Given the description of an element on the screen output the (x, y) to click on. 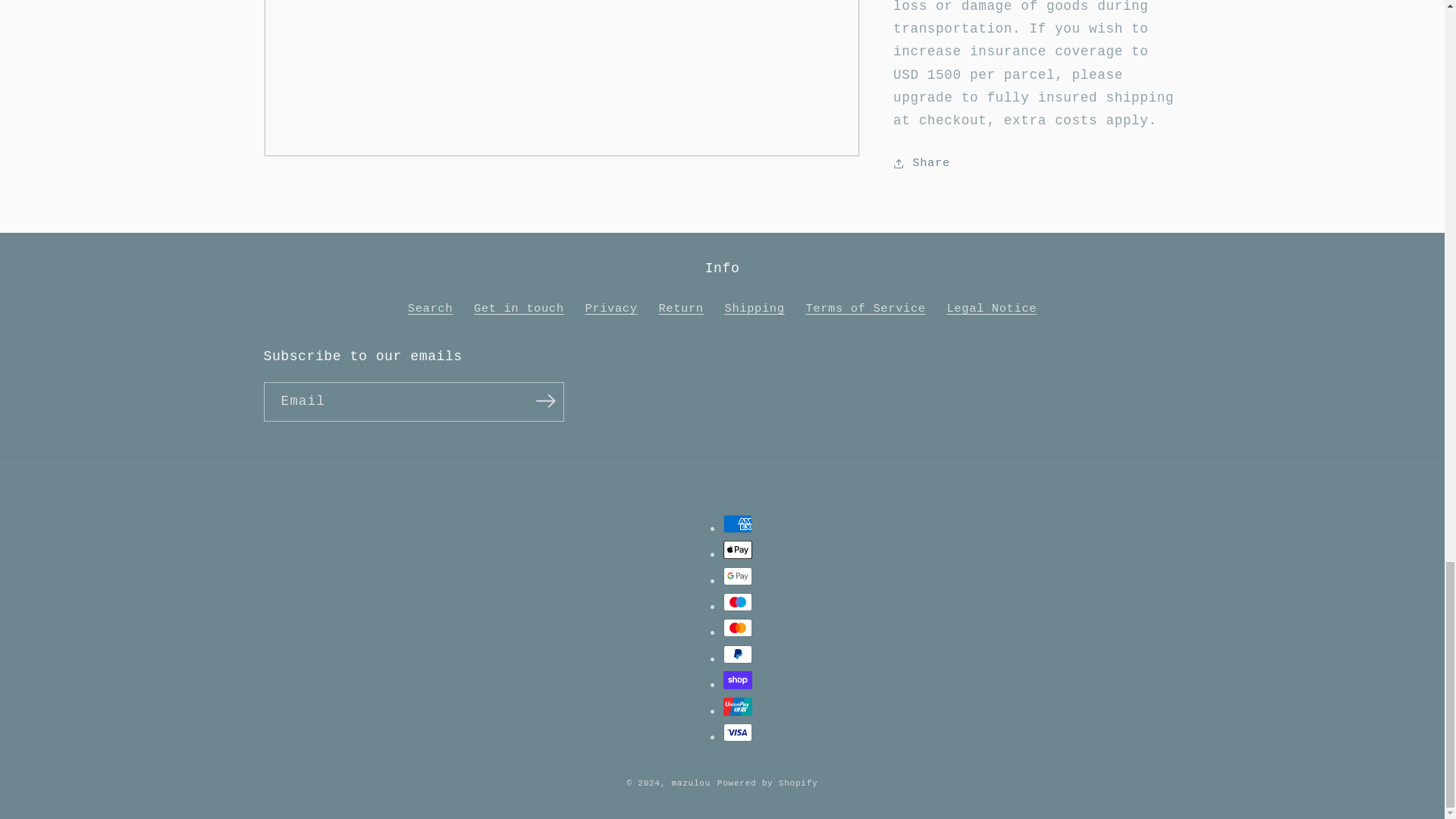
American Express (737, 524)
Maestro (737, 601)
Google Pay (737, 576)
Visa (737, 732)
Apple Pay (737, 549)
PayPal (737, 654)
Mastercard (737, 628)
Union Pay (737, 705)
Shop Pay (737, 679)
